Given the description of an element on the screen output the (x, y) to click on. 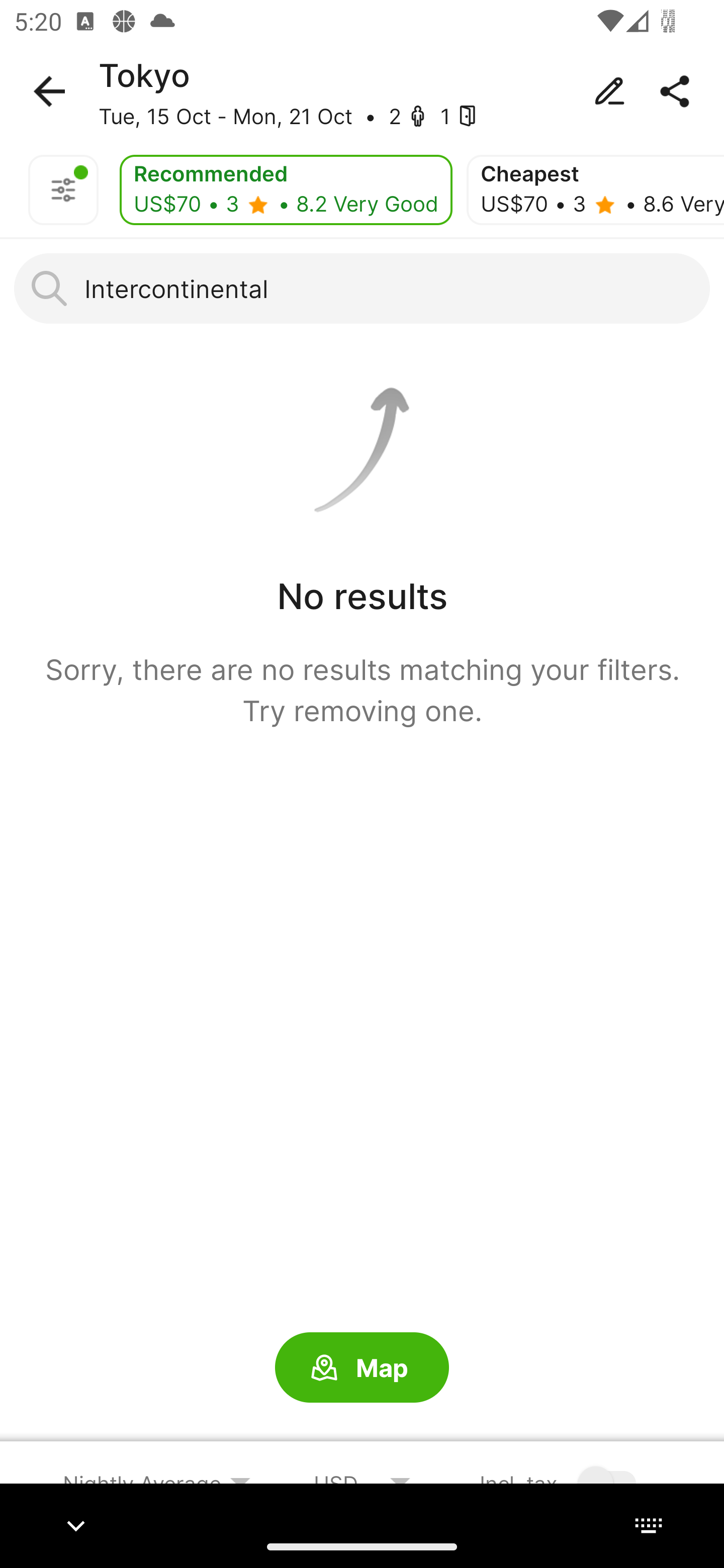
Tokyo Tue, 15 Oct - Mon, 21 Oct  •  2 -  1 - (361, 91)
Recommended  US$70  • 3 - • 8.2 Very Good (285, 190)
Cheapest US$70  • 3 - • 8.6 Very Good (595, 190)
Intercontinental (361, 288)
Map  (361, 1367)
